Given the description of an element on the screen output the (x, y) to click on. 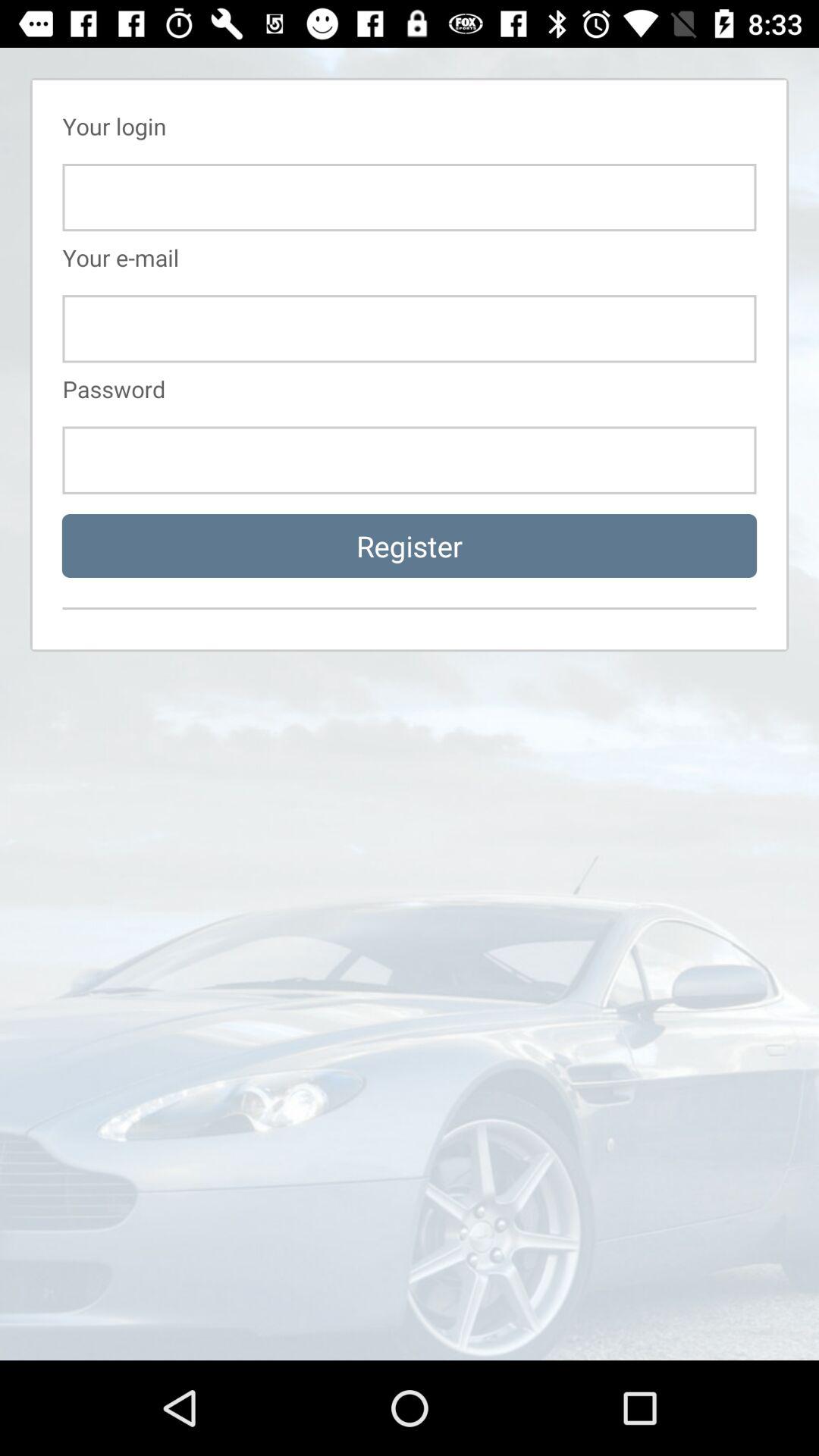
login id (409, 197)
